Given the description of an element on the screen output the (x, y) to click on. 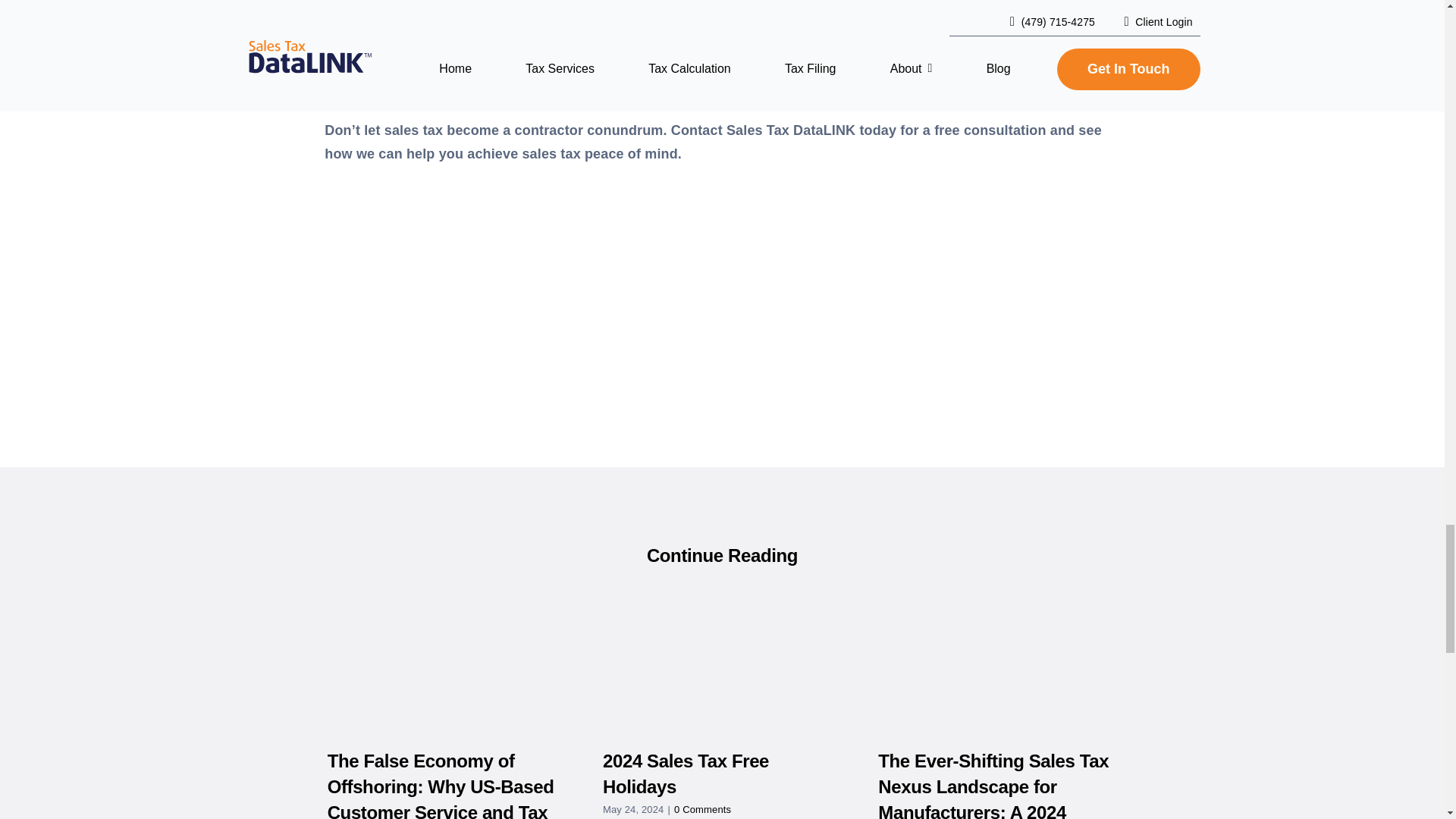
2024 Sales Tax Free Holidays (685, 773)
